Given the description of an element on the screen output the (x, y) to click on. 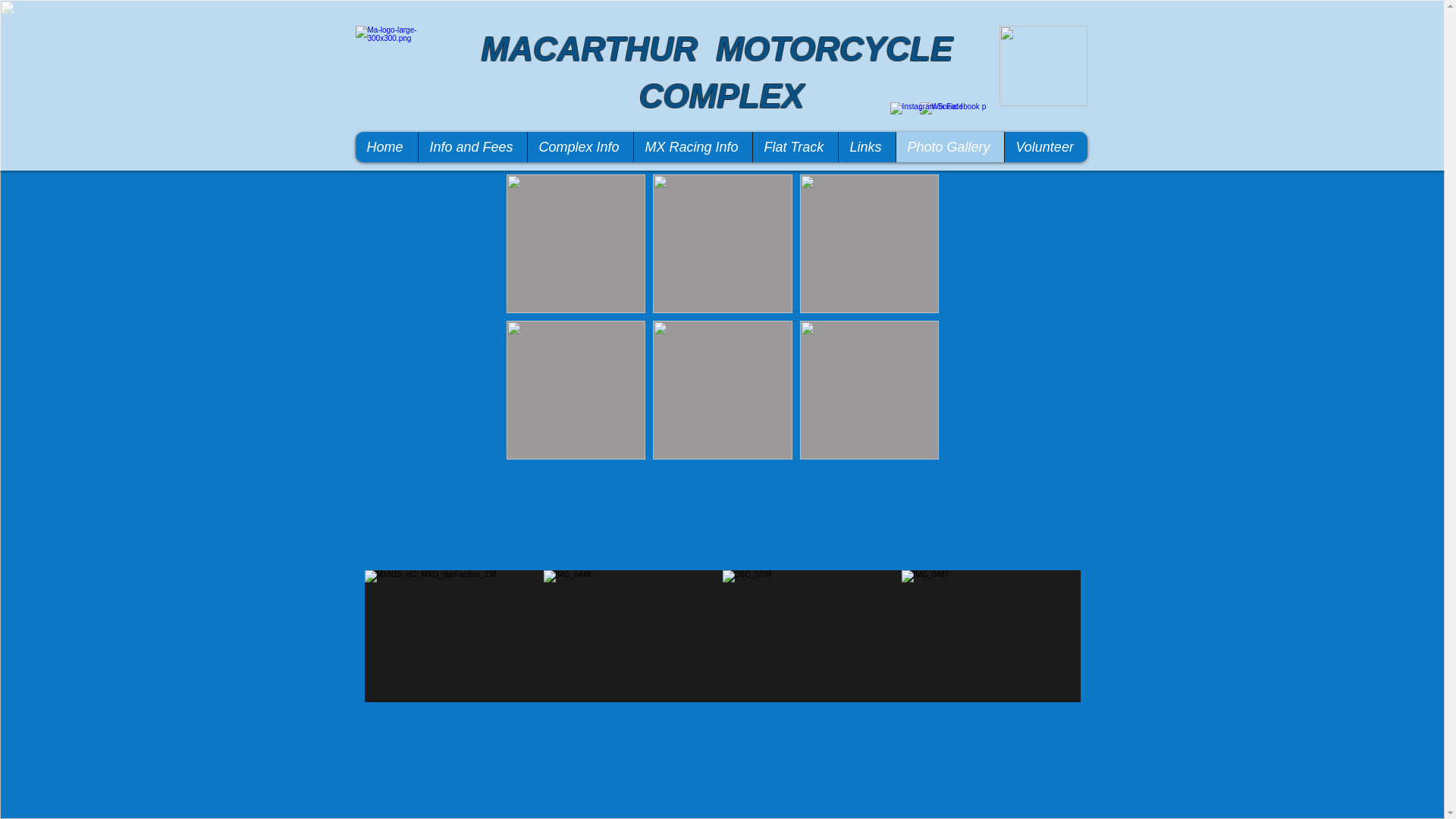
Photo Gallery Element type: text (948, 146)
Complex Info Element type: text (579, 146)
Flat Track Element type: text (794, 146)
MX Racing Info Element type: text (691, 146)
Volunteer Element type: text (1045, 146)
50 logo.png Element type: hover (1043, 65)
Home Element type: text (385, 146)
Info and Fees Element type: text (471, 146)
Links Element type: text (865, 146)
